Given the description of an element on the screen output the (x, y) to click on. 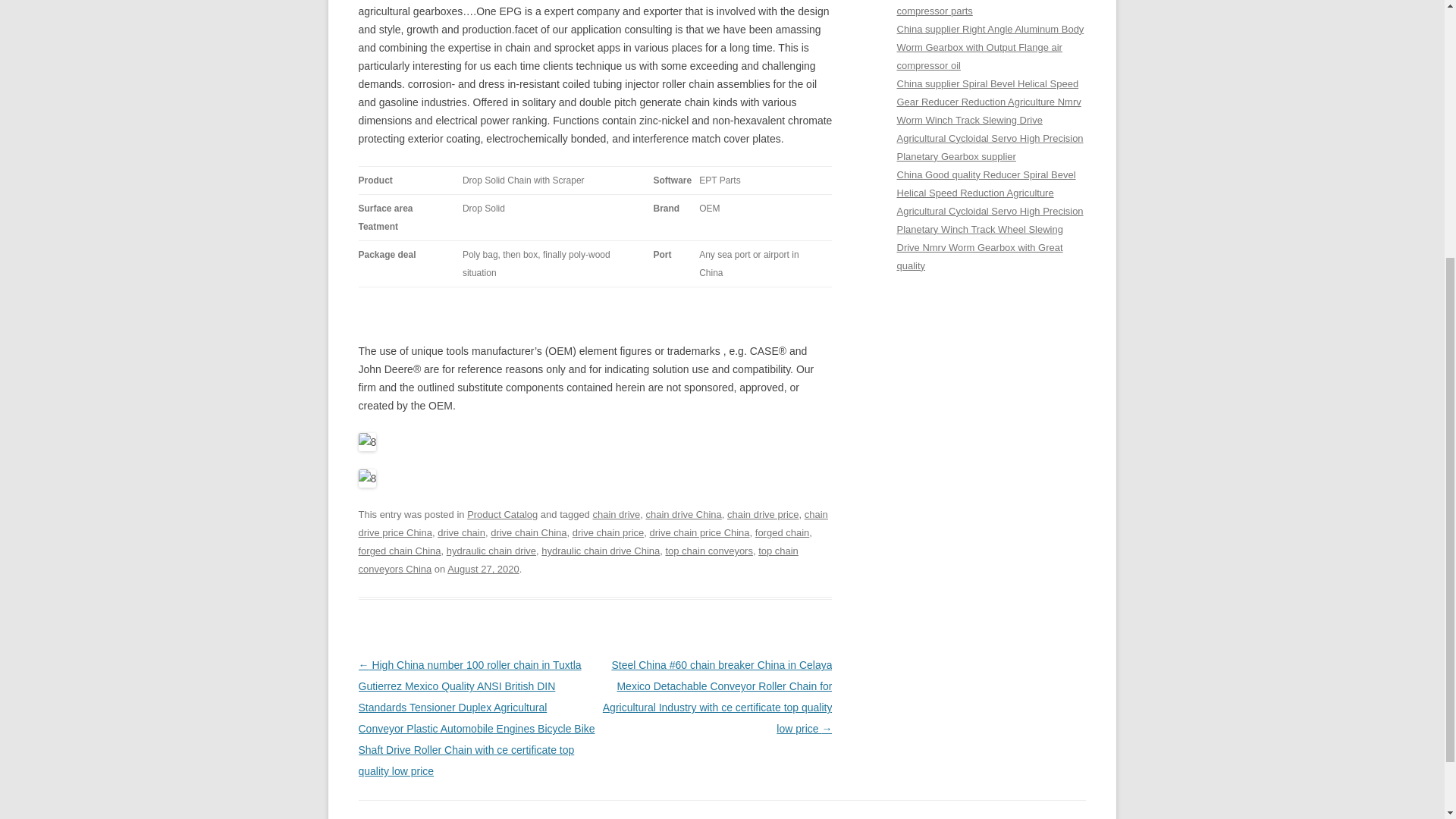
chain drive (616, 514)
hydraulic chain drive China (600, 550)
forged chain (782, 532)
top chain conveyors China (577, 559)
chain drive China (682, 514)
drive chain price China (699, 532)
drive chain (461, 532)
Product Catalog (502, 514)
top chain conveyors (708, 550)
hydraulic chain drive (490, 550)
drive chain price (608, 532)
